Given the description of an element on the screen output the (x, y) to click on. 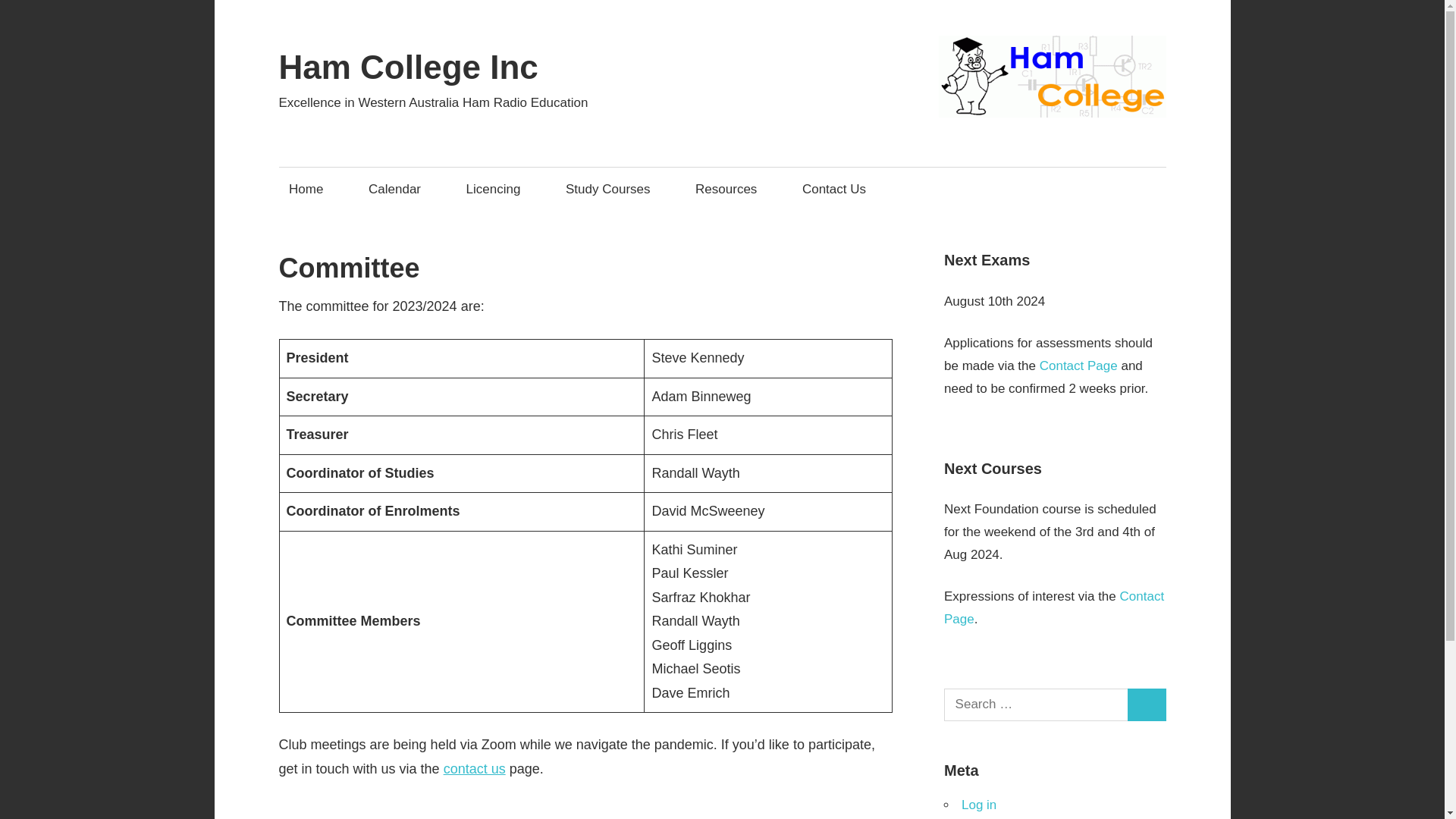
Search (1146, 704)
Contact Us (838, 189)
Search for: (1035, 704)
Log in (977, 804)
Licencing (497, 189)
Ham College Inc (408, 66)
contact us (474, 768)
Home (311, 189)
Resources (730, 189)
Contact Page (1053, 607)
Study Courses (611, 189)
Contact Page (1078, 365)
Calendar (398, 189)
